Given the description of an element on the screen output the (x, y) to click on. 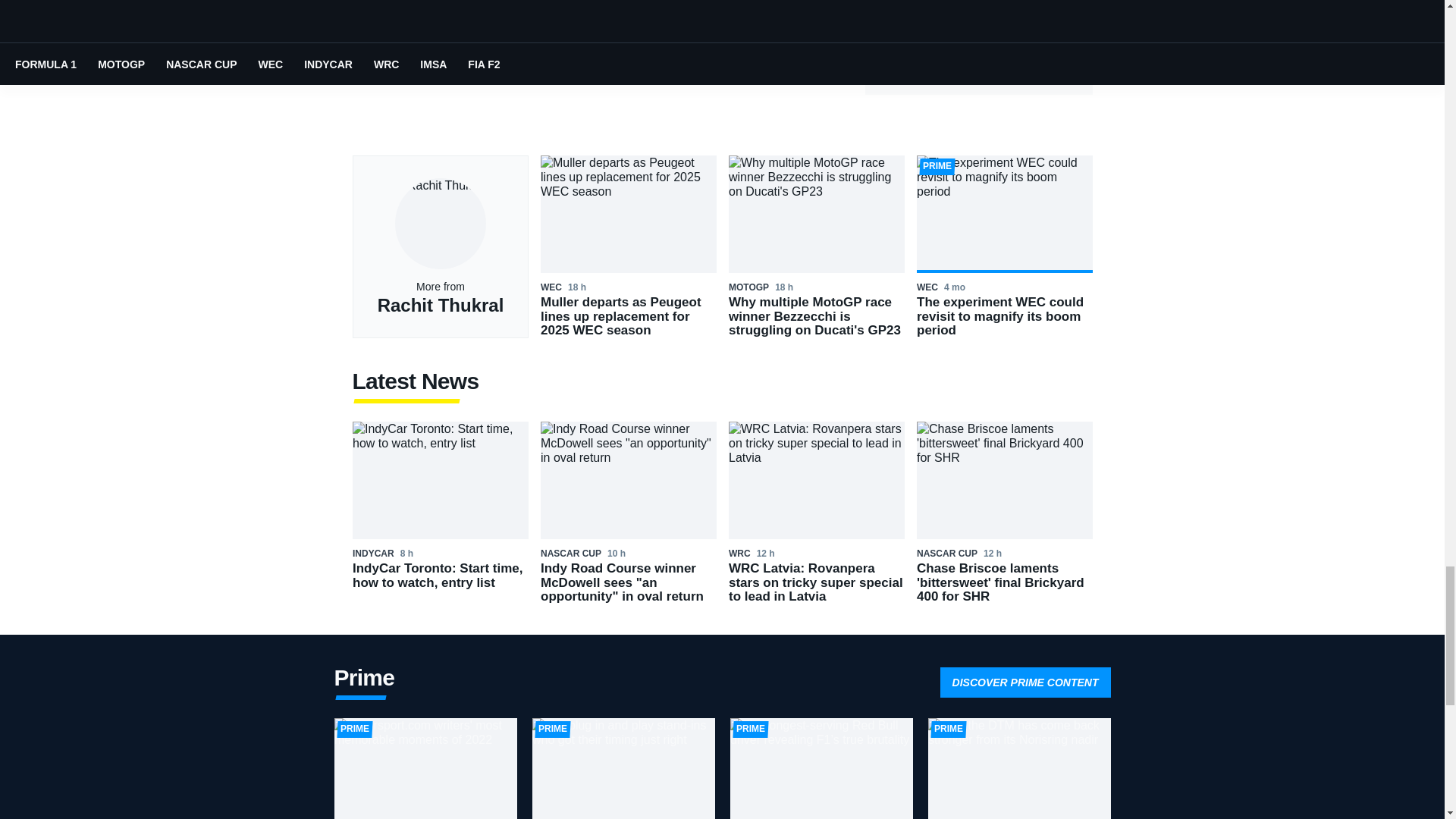
IndyCar Toronto: Start time, how to watch, entry list (439, 512)
How the DTM has come back stronger from its Norisring nadir (1019, 768)
Motorsport.com writers' most memorable moments of 2022 (424, 768)
The experiment WEC could revisit to magnify its boom period (1003, 246)
